Given the description of an element on the screen output the (x, y) to click on. 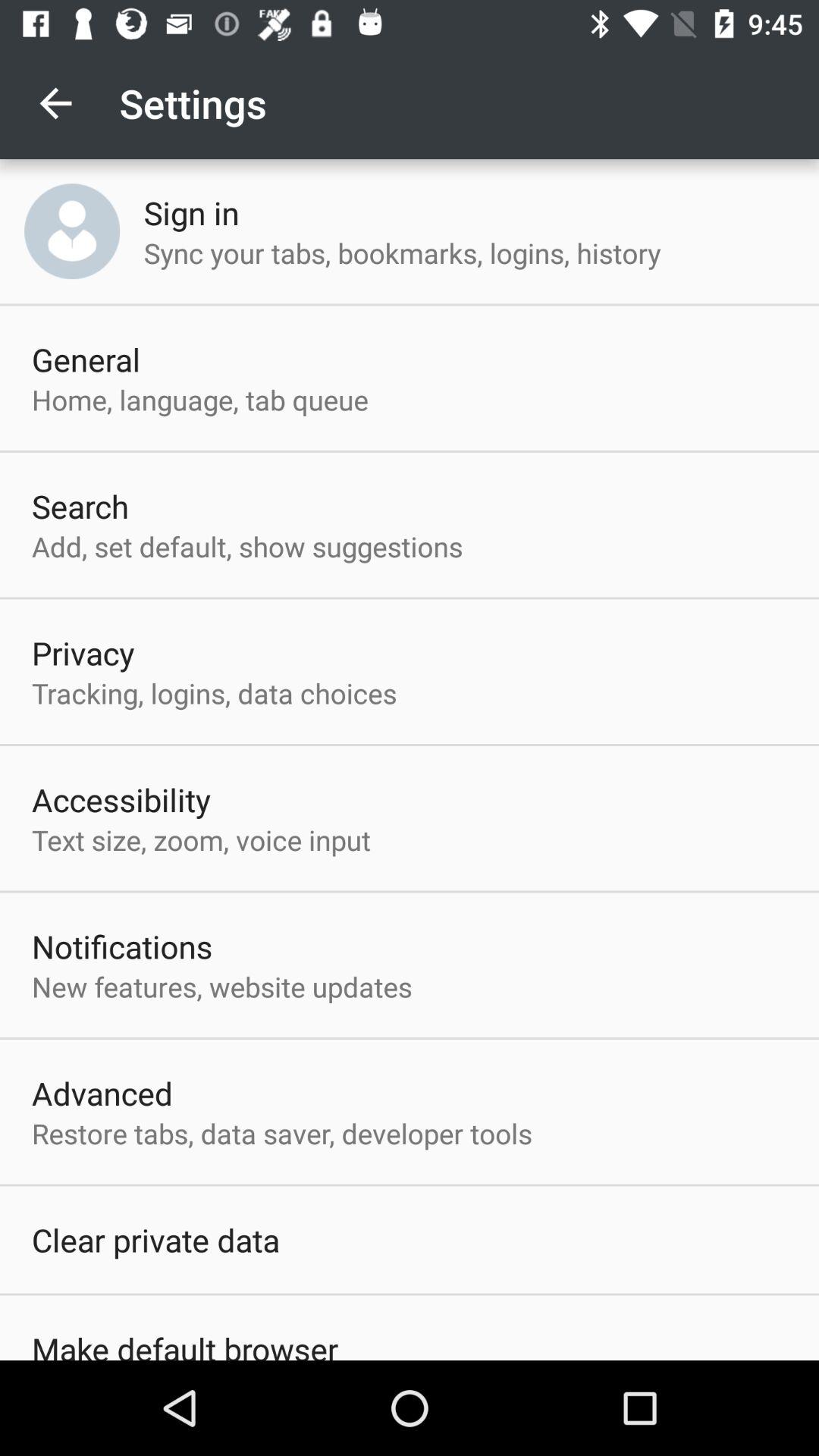
turn on icon to the left of the sign in icon (72, 231)
